Given the description of an element on the screen output the (x, y) to click on. 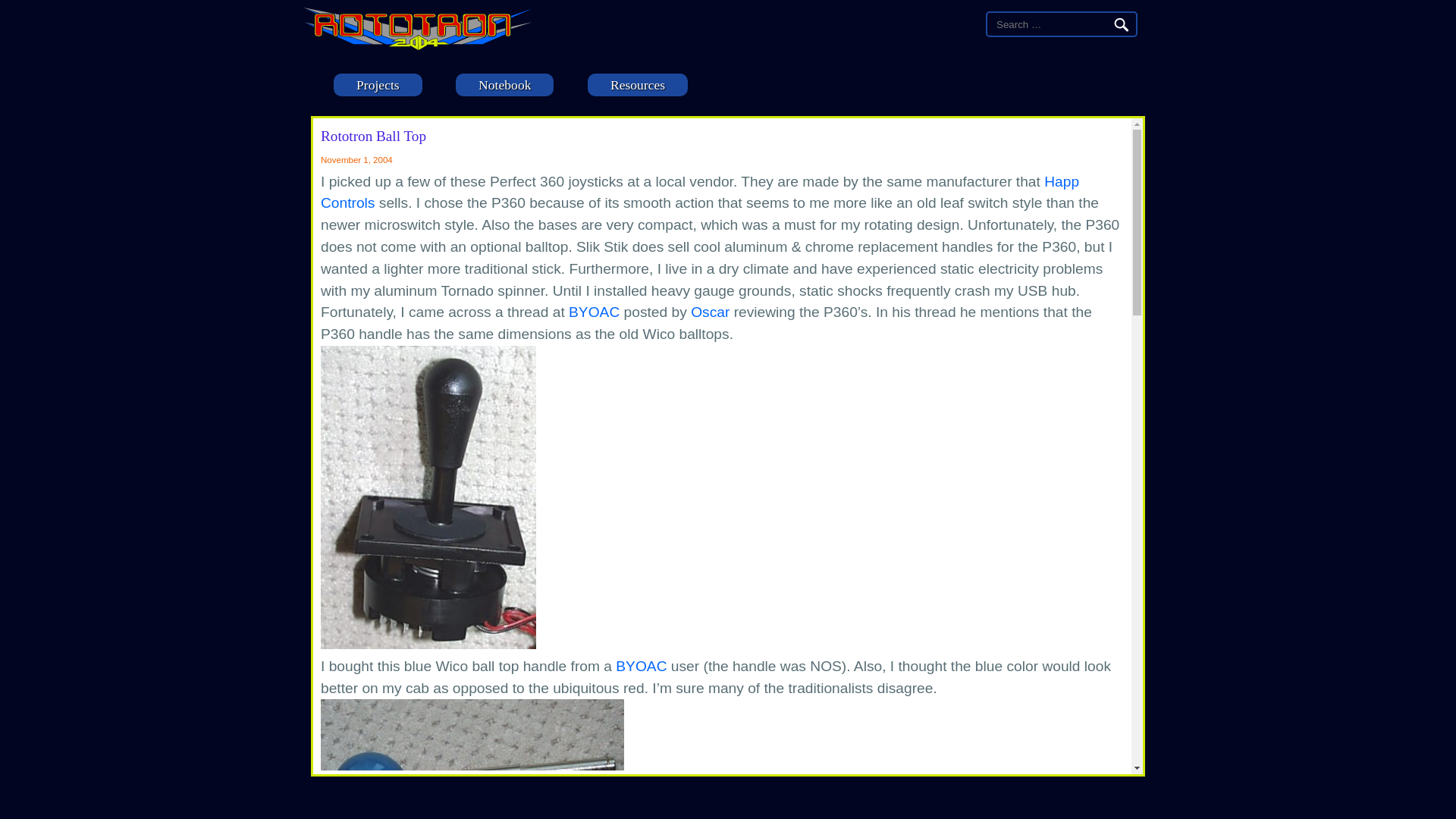
Resources (637, 84)
BYOAC (640, 666)
Notebook (504, 84)
Search for: (1048, 24)
Projects (377, 84)
BYOAC (594, 311)
Happ Controls (699, 192)
Rototron (417, 45)
Oscar (709, 311)
